Given the description of an element on the screen output the (x, y) to click on. 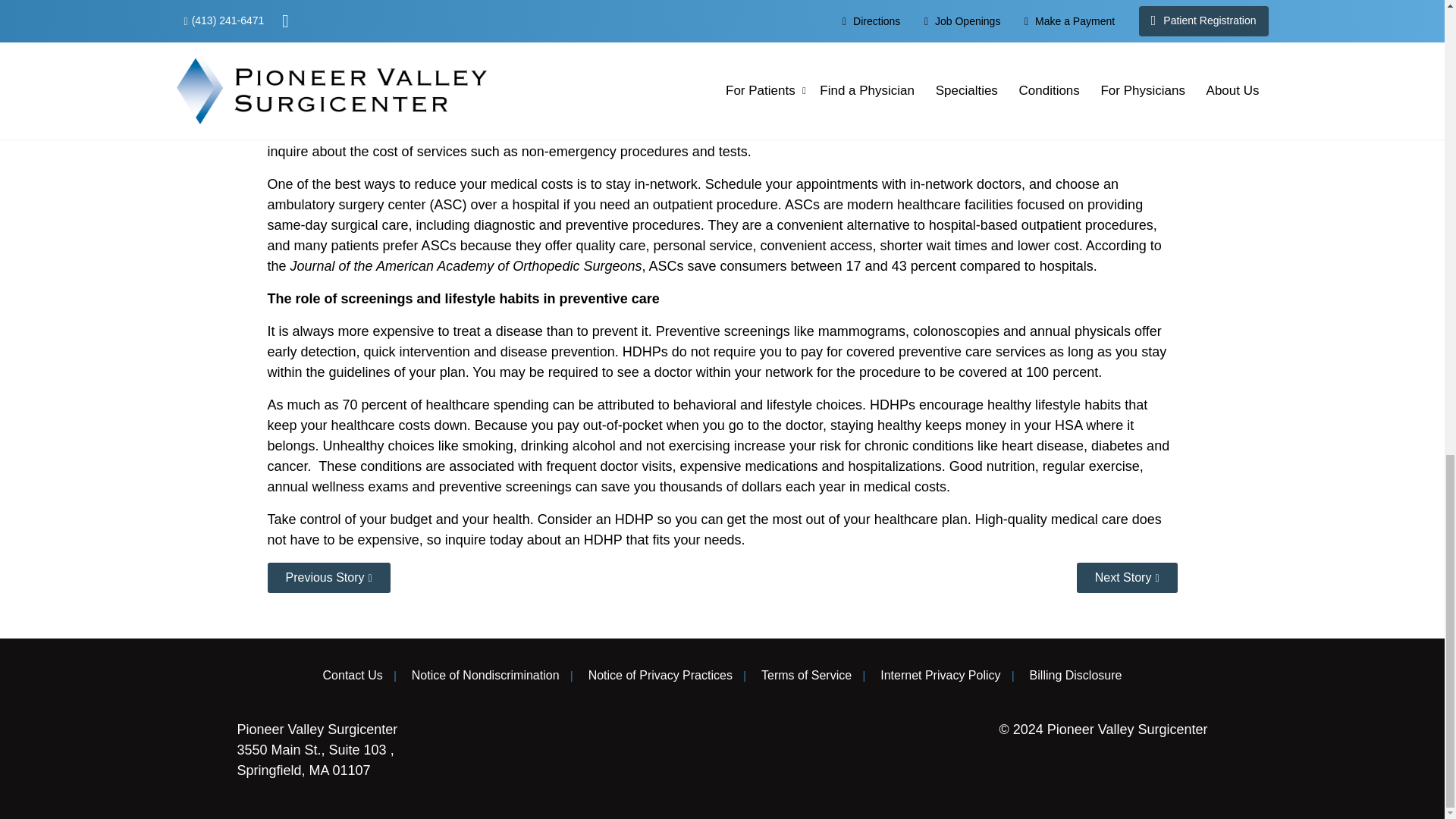
Notice of Privacy Practices (660, 675)
Contact Us (352, 675)
Billing Disclosure (1075, 675)
Terms of Service (806, 675)
Internet Privacy Policy (940, 675)
Notice of Nondiscrimination (485, 675)
Next Story (1127, 577)
Previous Story (328, 577)
